Given the description of an element on the screen output the (x, y) to click on. 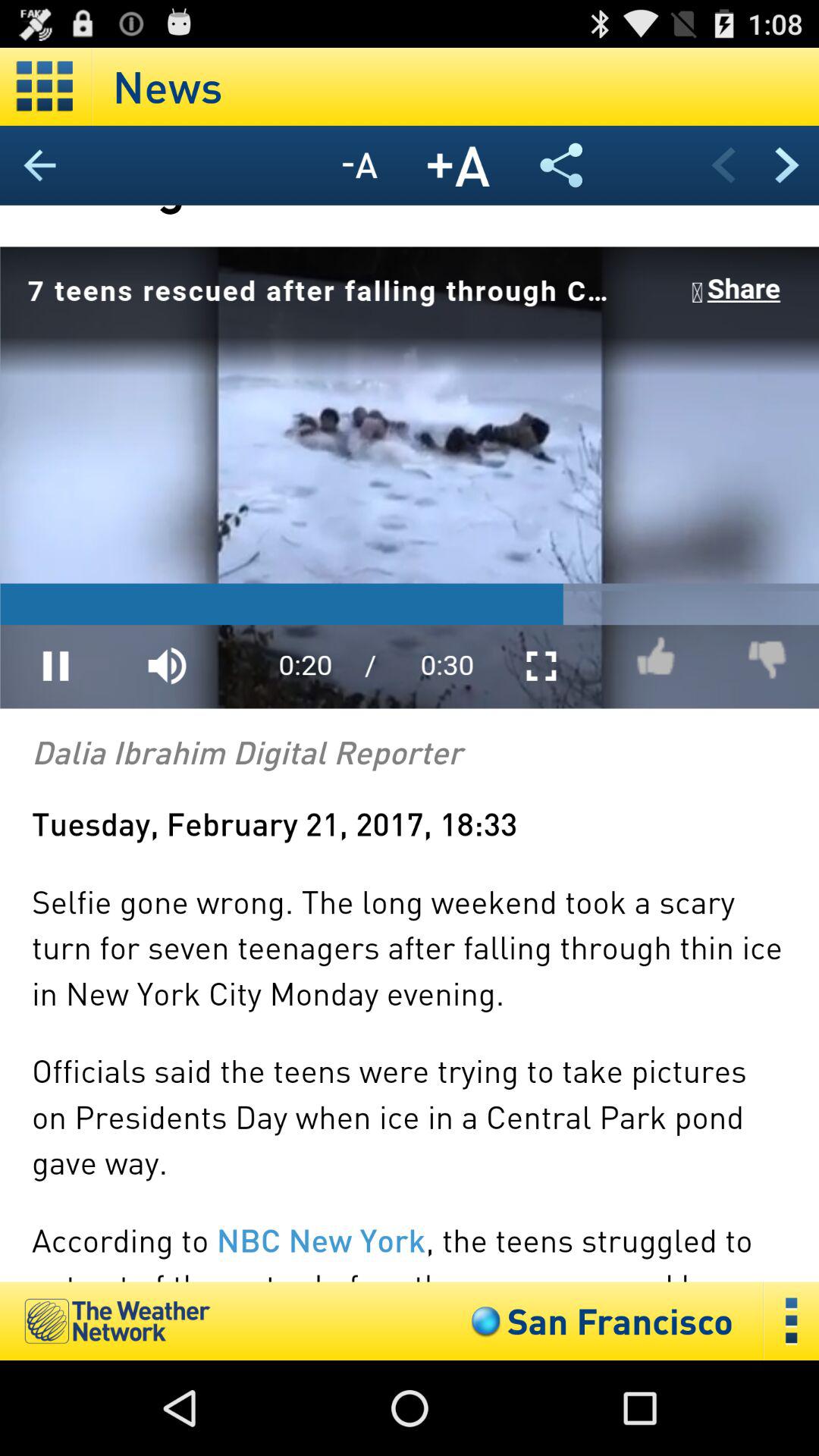
share option (561, 165)
